Given the description of an element on the screen output the (x, y) to click on. 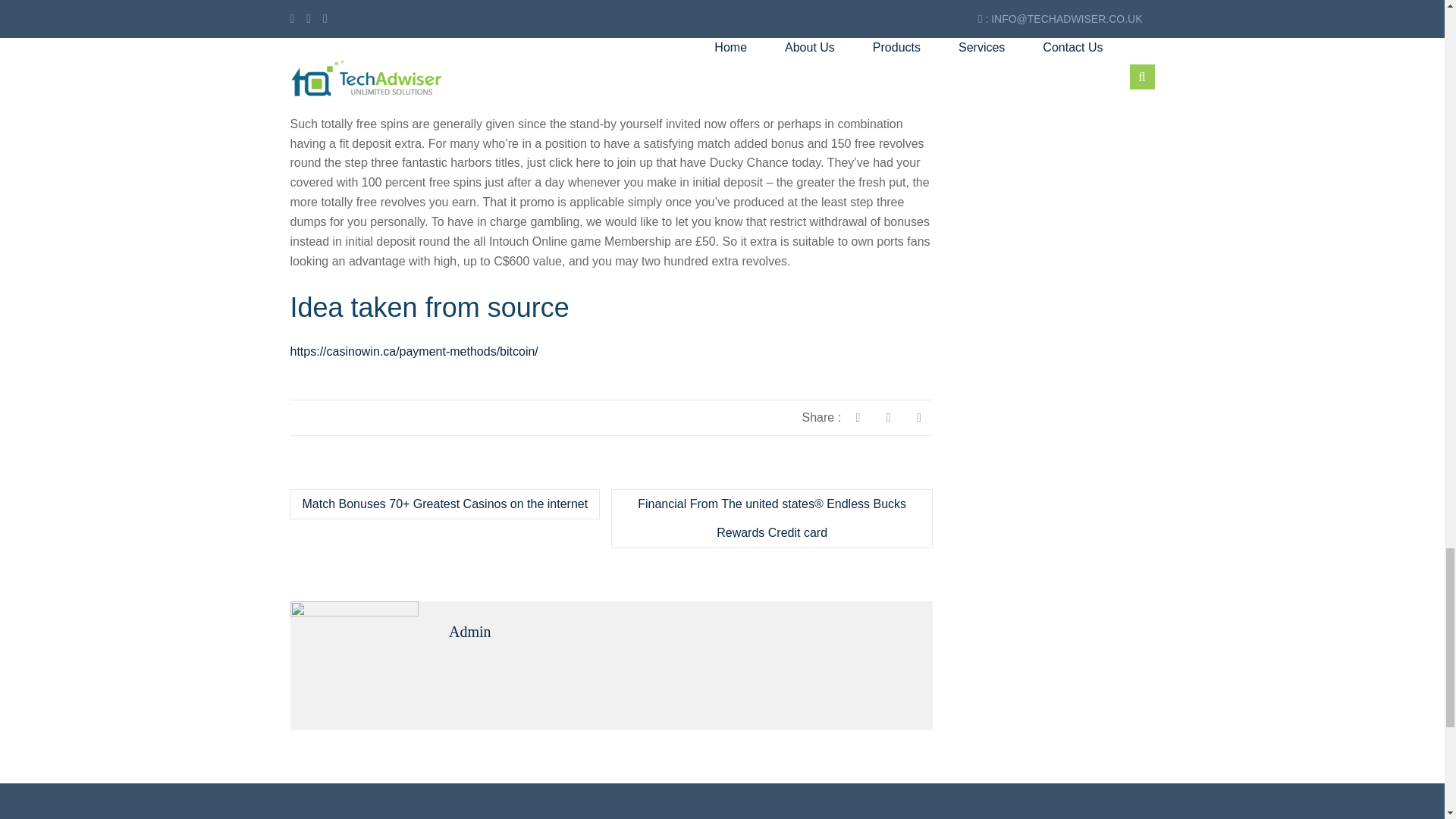
Posts by Admin (470, 631)
